Given the description of an element on the screen output the (x, y) to click on. 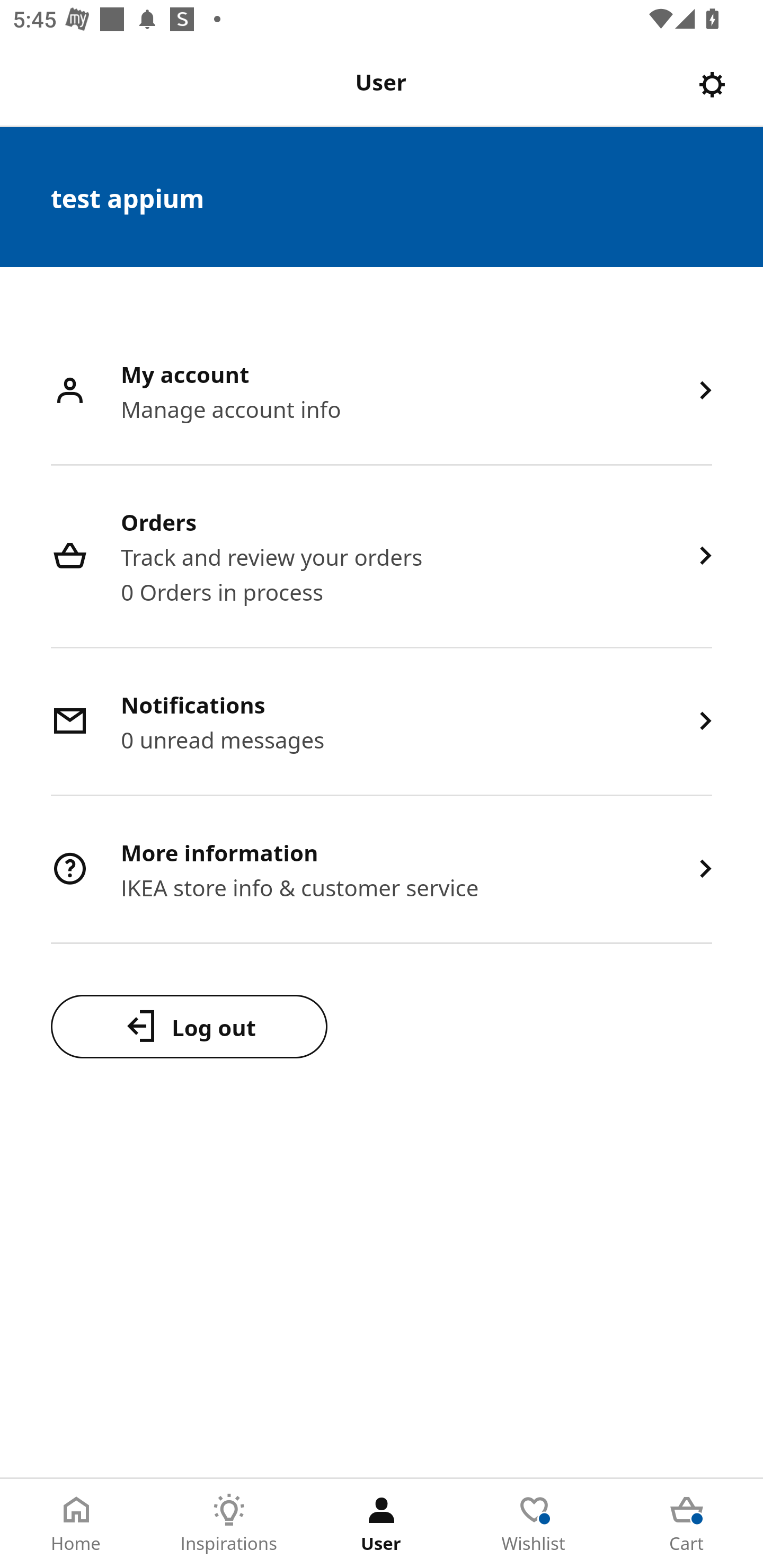
My account
Manage account info (381, 391)
Notifications
0 unread messages (381, 722)
Log out (189, 1026)
Home
Tab 1 of 5 (76, 1522)
Inspirations
Tab 2 of 5 (228, 1522)
User
Tab 3 of 5 (381, 1522)
Wishlist
Tab 4 of 5 (533, 1522)
Cart
Tab 5 of 5 (686, 1522)
